Given the description of an element on the screen output the (x, y) to click on. 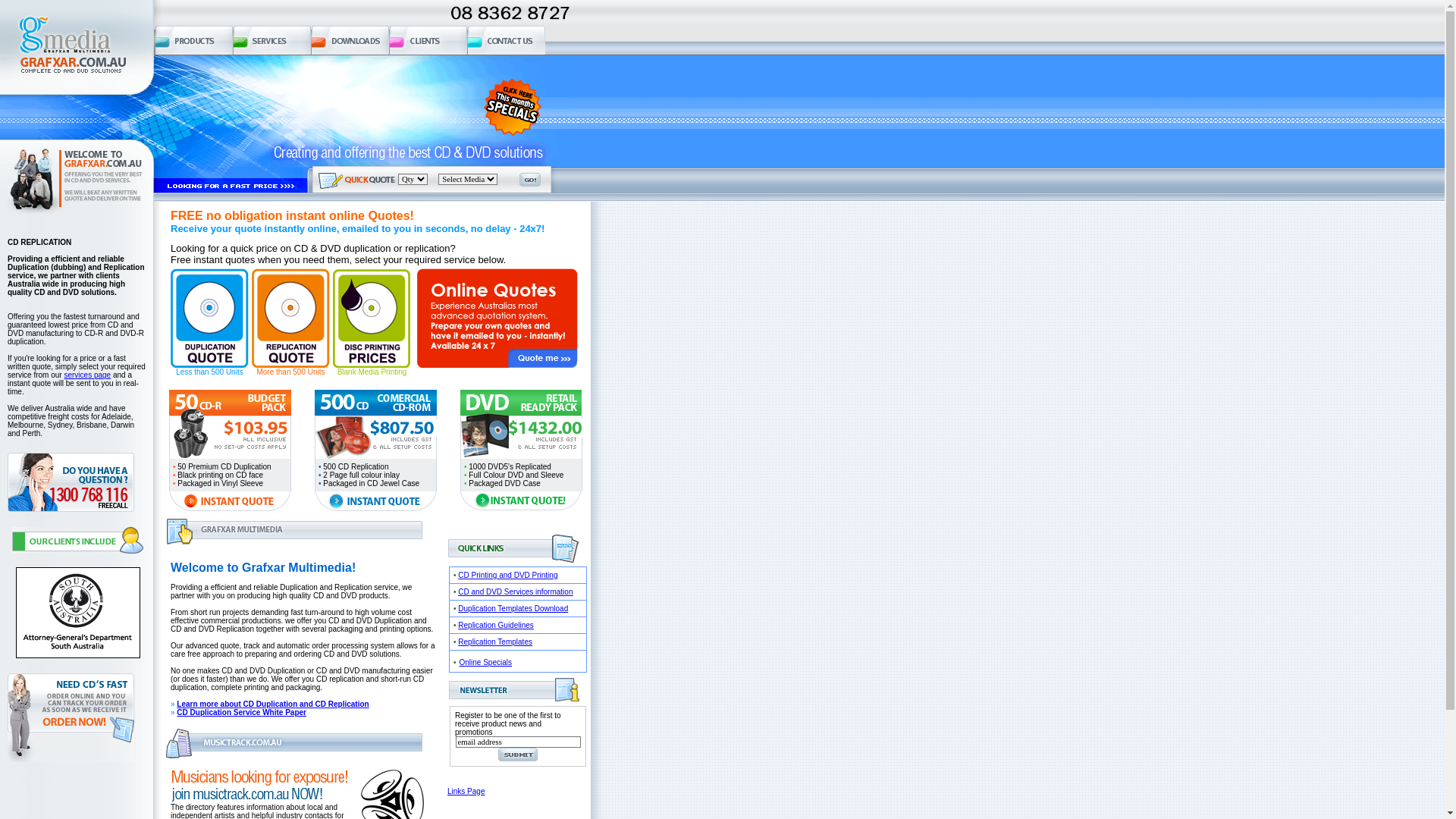
Replication Templates Element type: text (495, 641)
CD and DVD Services information Element type: text (515, 591)
Online Specials Element type: text (485, 662)
Links Page Element type: text (465, 791)
CD Duplication Service White Paper Element type: text (241, 712)
CD Printing and DVD Printing Element type: text (507, 575)
Replication Guidelines Element type: text (495, 625)
services page Element type: text (86, 374)
Learn more about CD Duplication and CD Replication Element type: text (272, 703)
Duplication Templates Download Element type: text (512, 608)
